Given the description of an element on the screen output the (x, y) to click on. 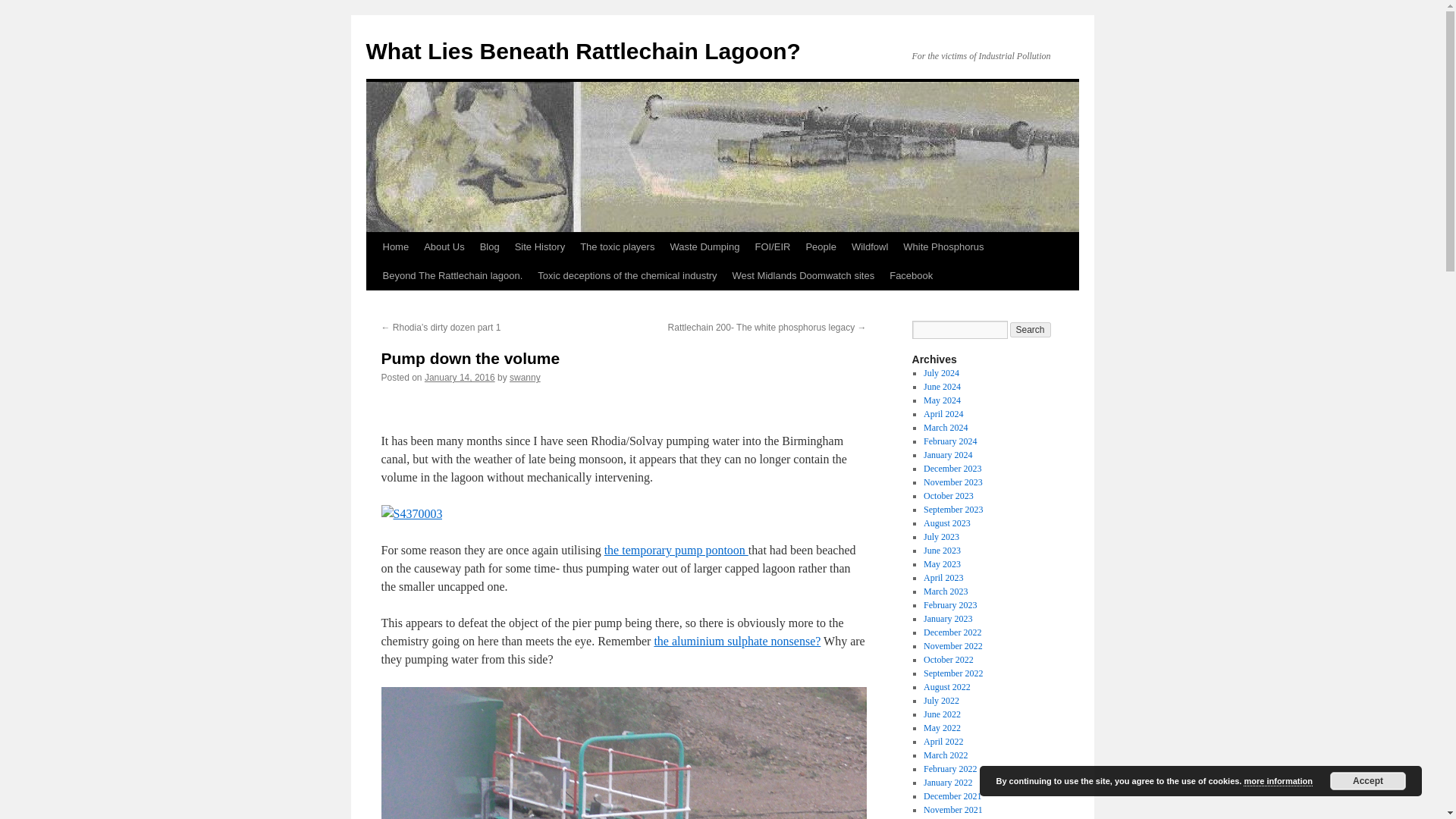
The toxic players (617, 246)
View all posts by swanny (524, 377)
Site History (539, 246)
Home (395, 246)
What Lies Beneath Rattlechain Lagoon? (582, 50)
Blog (488, 246)
About Us (443, 246)
pontoon (676, 549)
decrease the ph? (737, 640)
Search (1030, 329)
What Lies Beneath Rattlechain Lagoon? (582, 50)
9:37 pm (460, 377)
